Given the description of an element on the screen output the (x, y) to click on. 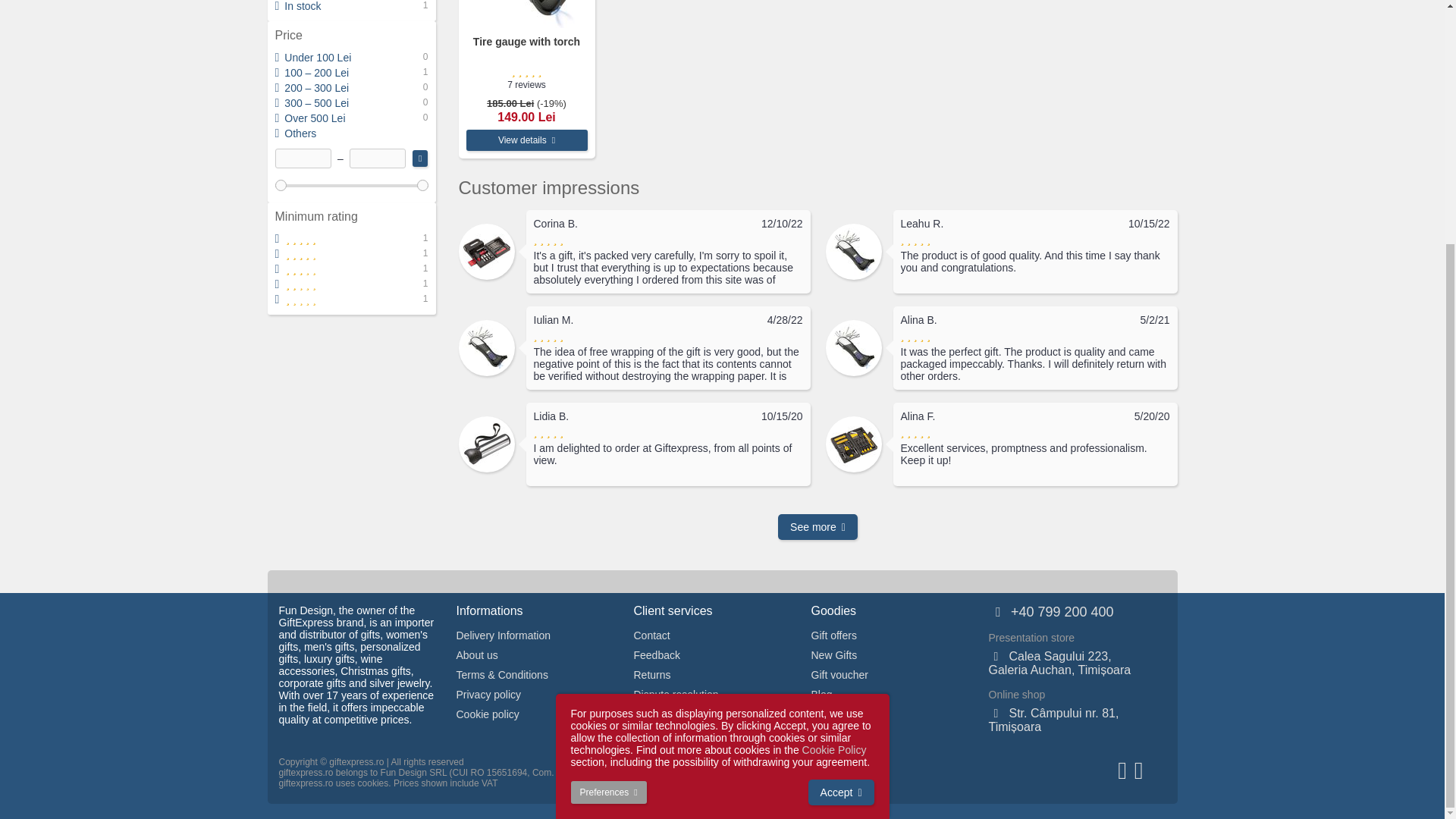
100 (351, 183)
0 (351, 183)
Tire gauge with torch (525, 13)
